Given the description of an element on the screen output the (x, y) to click on. 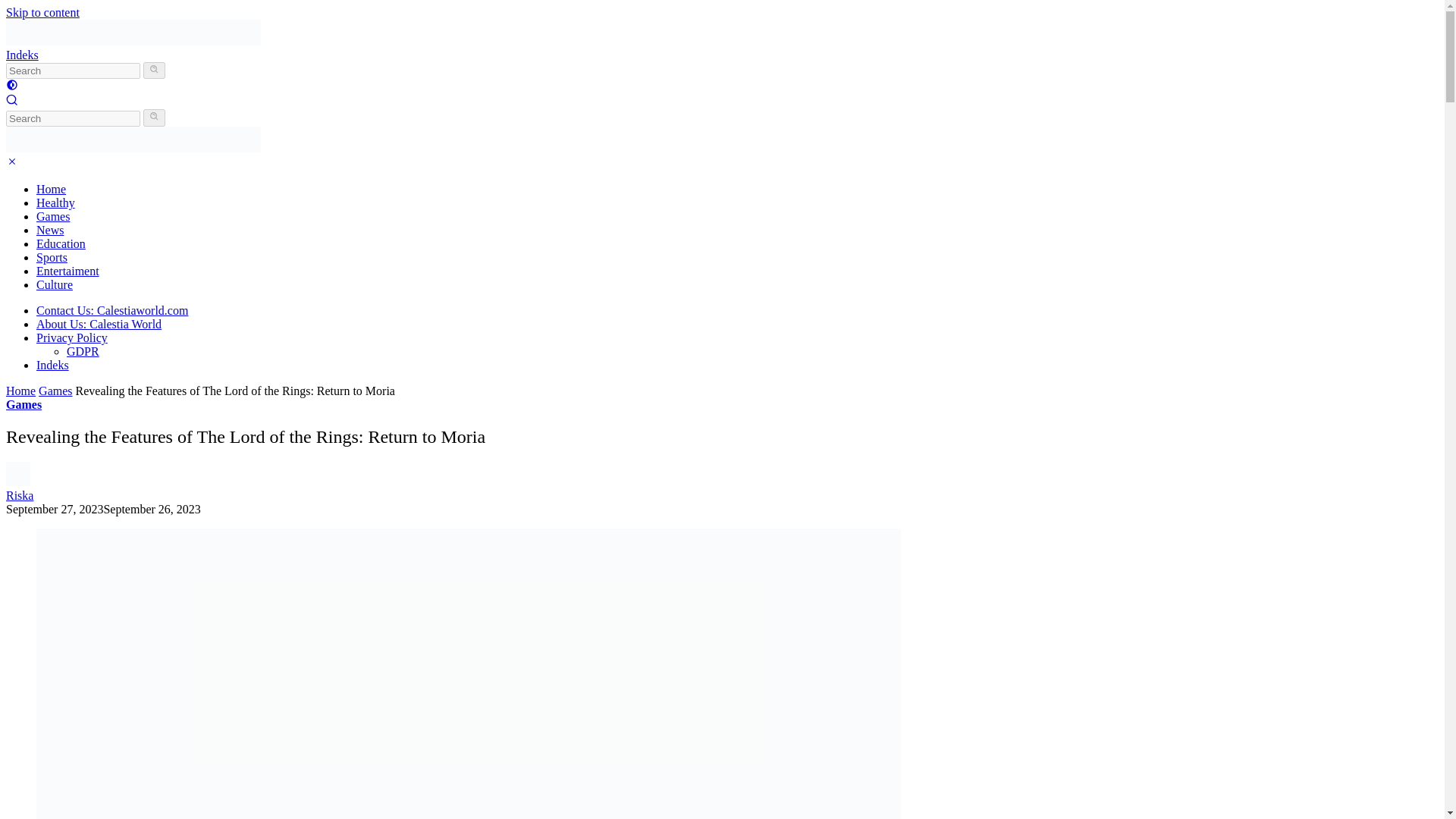
Dark Mode (11, 86)
GDPR (82, 350)
Skip to content (42, 11)
Culture (54, 284)
Contact Us: Calestiaworld.com (111, 309)
Games (52, 215)
Calestia World (132, 147)
Entertaiment (67, 270)
Indeks (52, 364)
Home (19, 390)
